Given the description of an element on the screen output the (x, y) to click on. 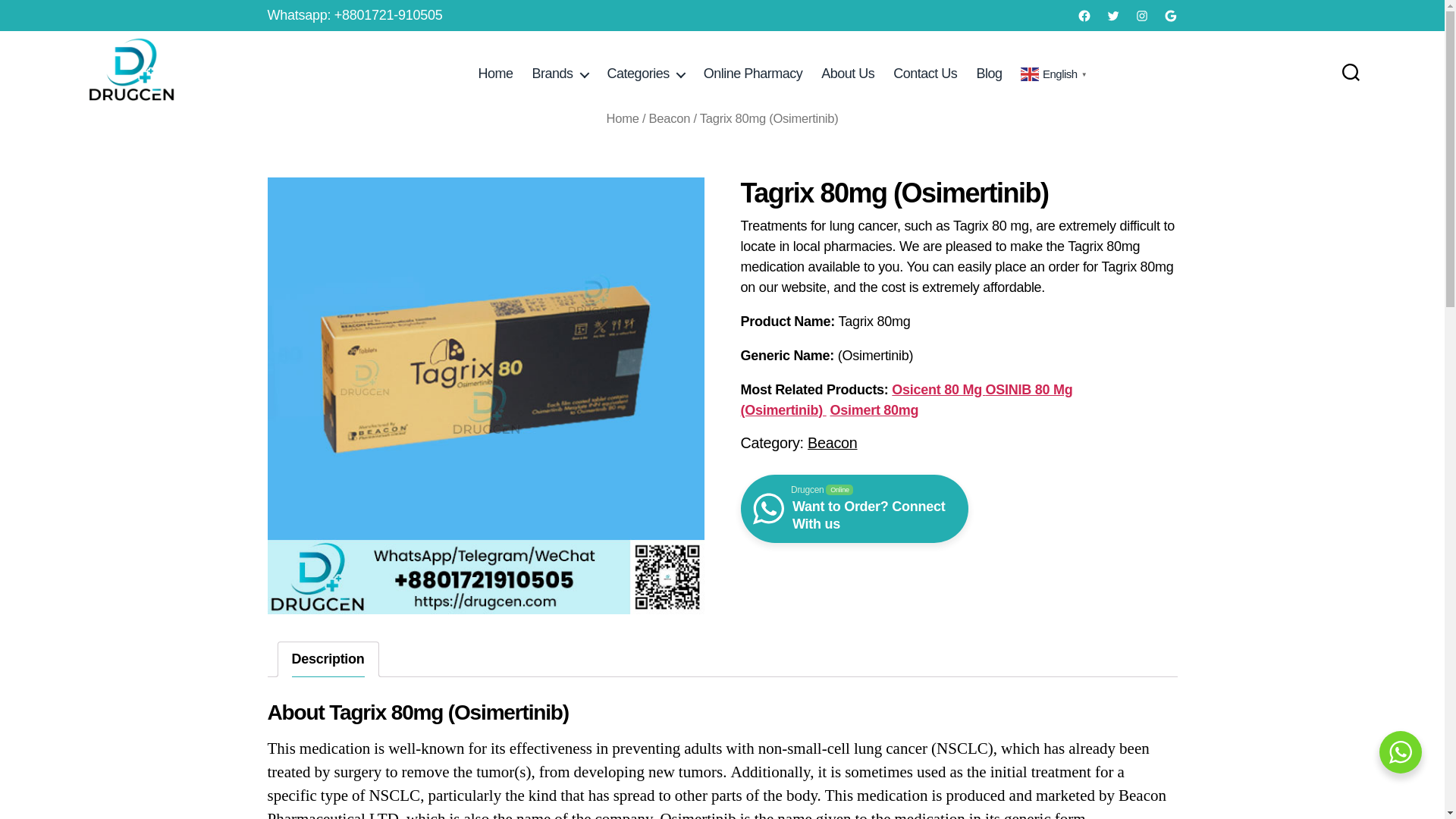
About Us (848, 74)
Contact Us (924, 74)
Online Pharmacy (753, 74)
Brands (560, 74)
Home (496, 74)
Categories (645, 74)
Blog (988, 74)
